Given the description of an element on the screen output the (x, y) to click on. 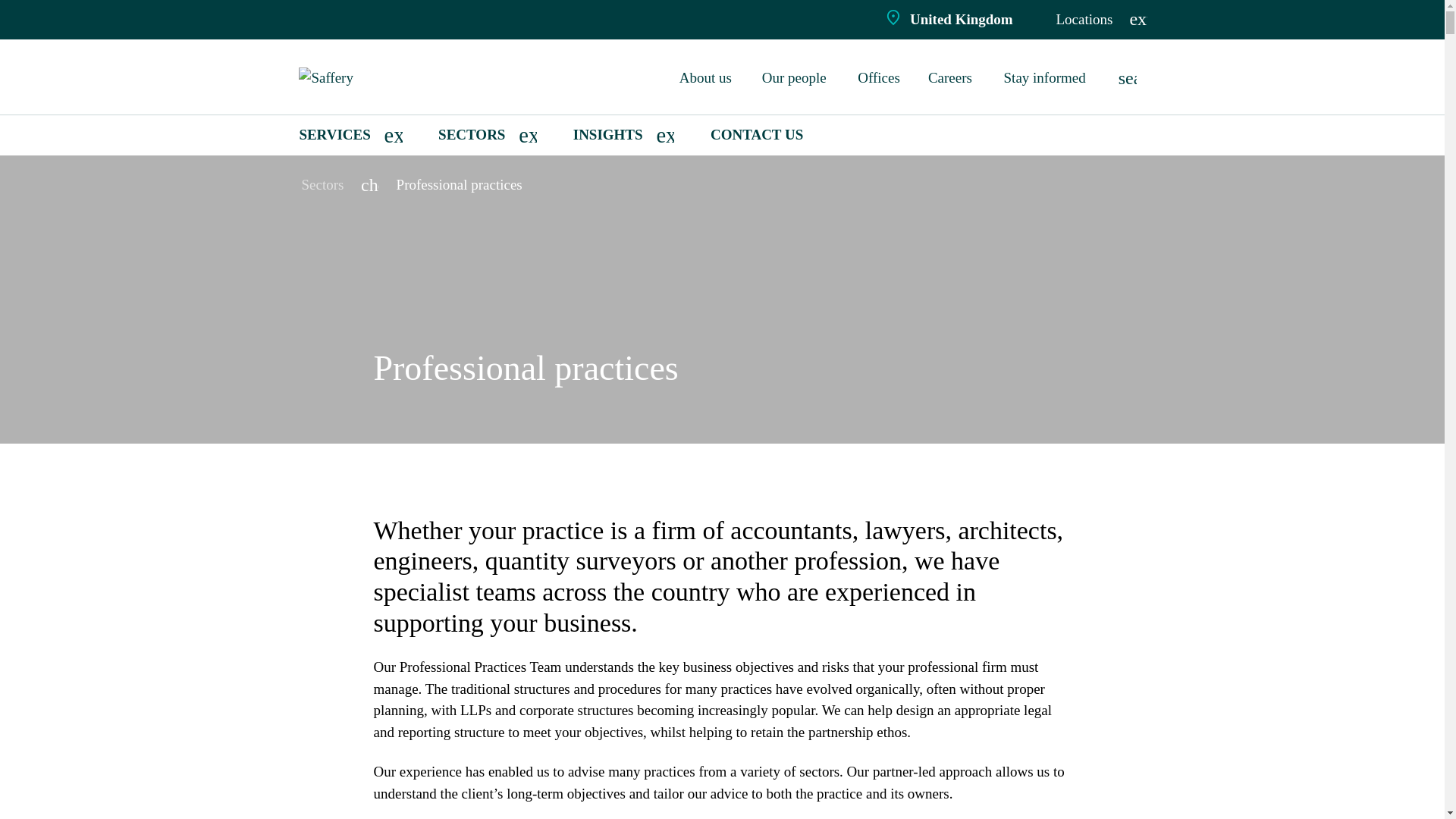
Offices (879, 78)
Careers (951, 78)
CONTACT US (756, 134)
Our people (796, 78)
Professional practices (459, 184)
Sectors (322, 184)
About us (706, 78)
Stay informed (1047, 78)
